Given the description of an element on the screen output the (x, y) to click on. 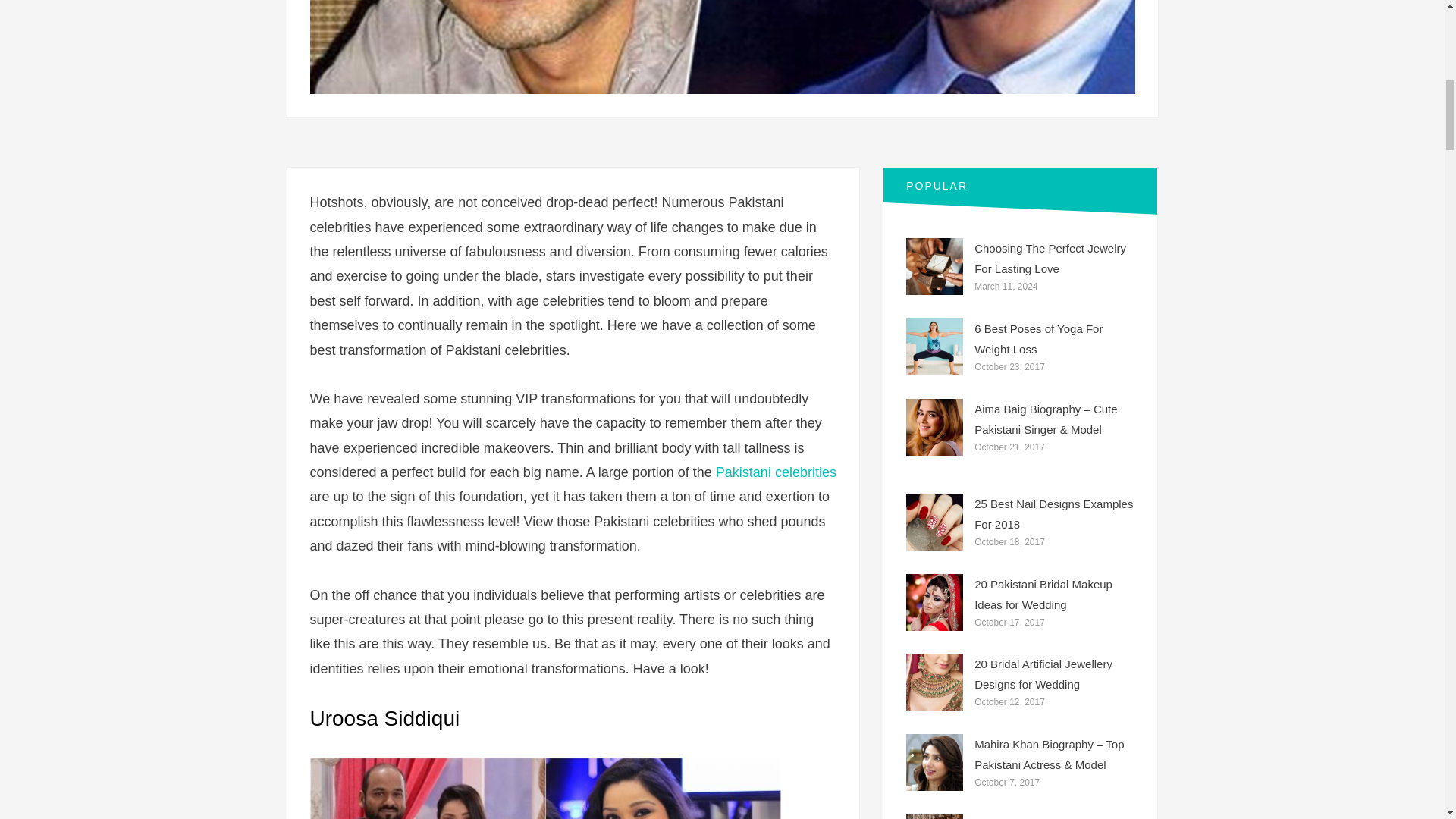
Pakistani celebrities (775, 472)
15 Best Transformation of Pakistani Celebrities (721, 47)
